Given the description of an element on the screen output the (x, y) to click on. 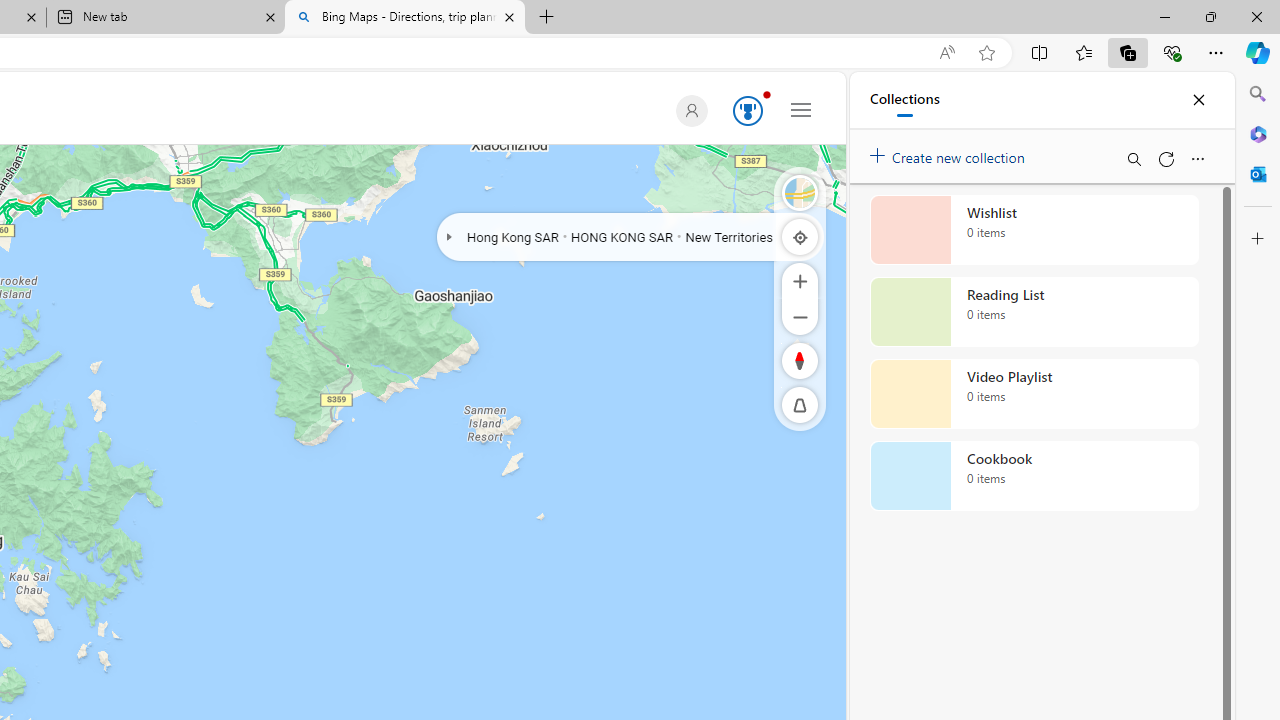
Locate me (799, 236)
Streetside (799, 192)
More options menu (1197, 158)
Zoom Out (799, 316)
Zoom In (799, 280)
